Given the description of an element on the screen output the (x, y) to click on. 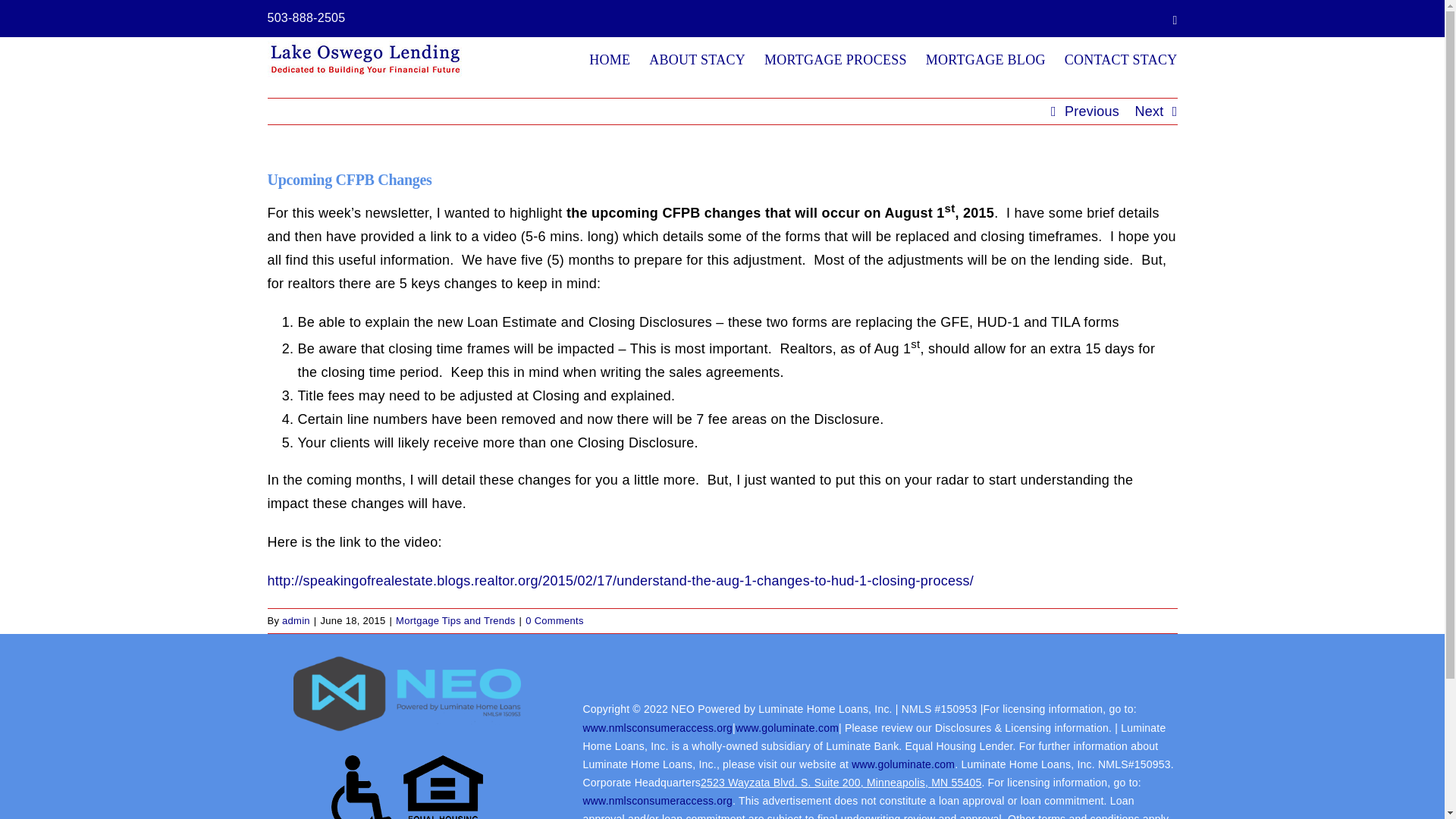
www.goluminate.com (786, 727)
Equal Housing Leander (405, 787)
CONTACT STACY (1120, 58)
www.nmlsconsumeraccess.org (657, 727)
Stacy Yost Mortgages (609, 58)
0 Comments (554, 620)
MORTGAGE BLOG (985, 58)
www.goluminate.com (903, 764)
Posts by admin (296, 620)
www.nmlsconsumeraccess.org (657, 800)
HOME (609, 58)
admin (296, 620)
LinkedIn (1174, 20)
LinkedIn (1174, 20)
MORTGAGE PROCESS (835, 58)
